Given the description of an element on the screen output the (x, y) to click on. 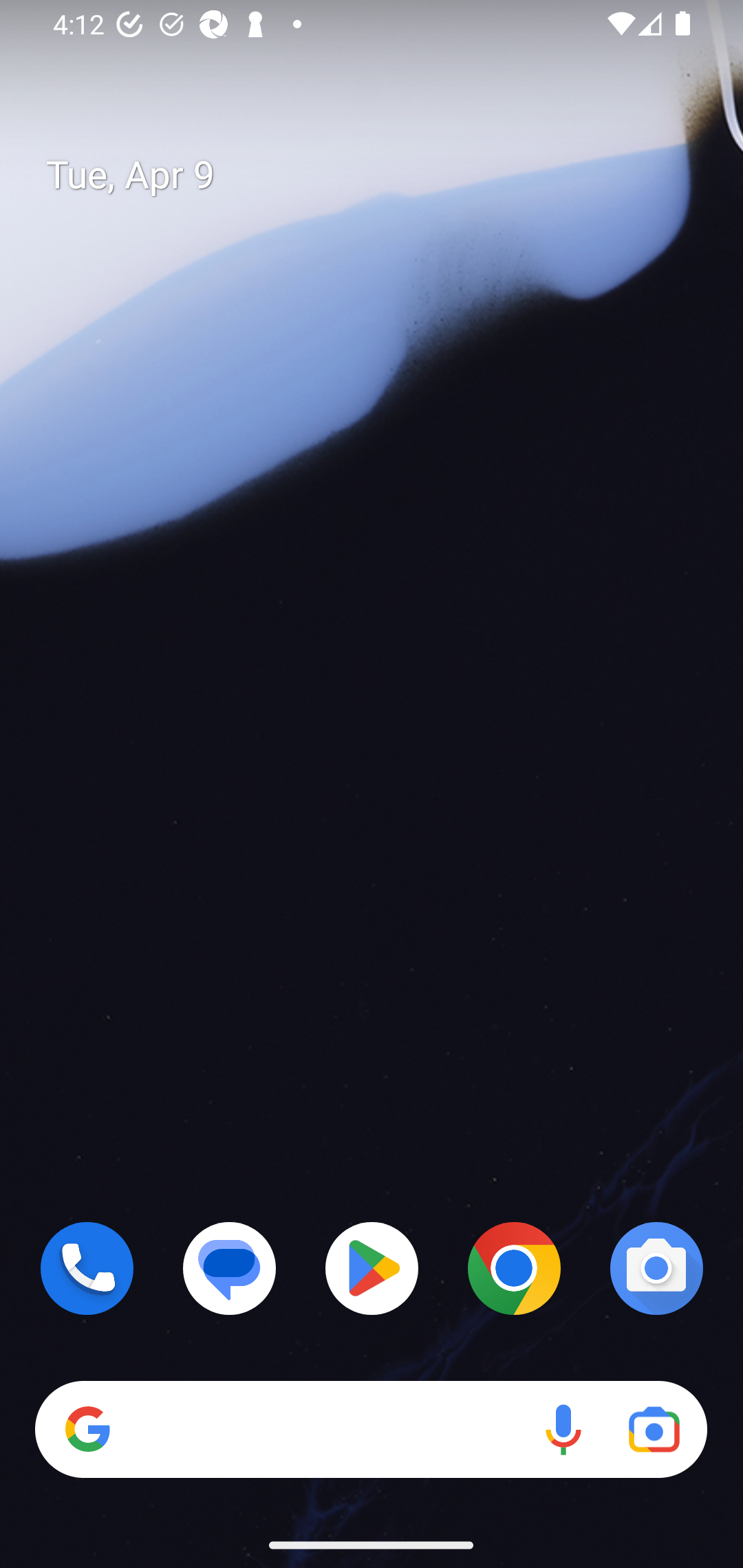
Tue, Apr 9 (386, 175)
Phone (86, 1268)
Messages (229, 1268)
Play Store (371, 1268)
Chrome (513, 1268)
Camera (656, 1268)
Voice search (562, 1429)
Google Lens (653, 1429)
